Given the description of an element on the screen output the (x, y) to click on. 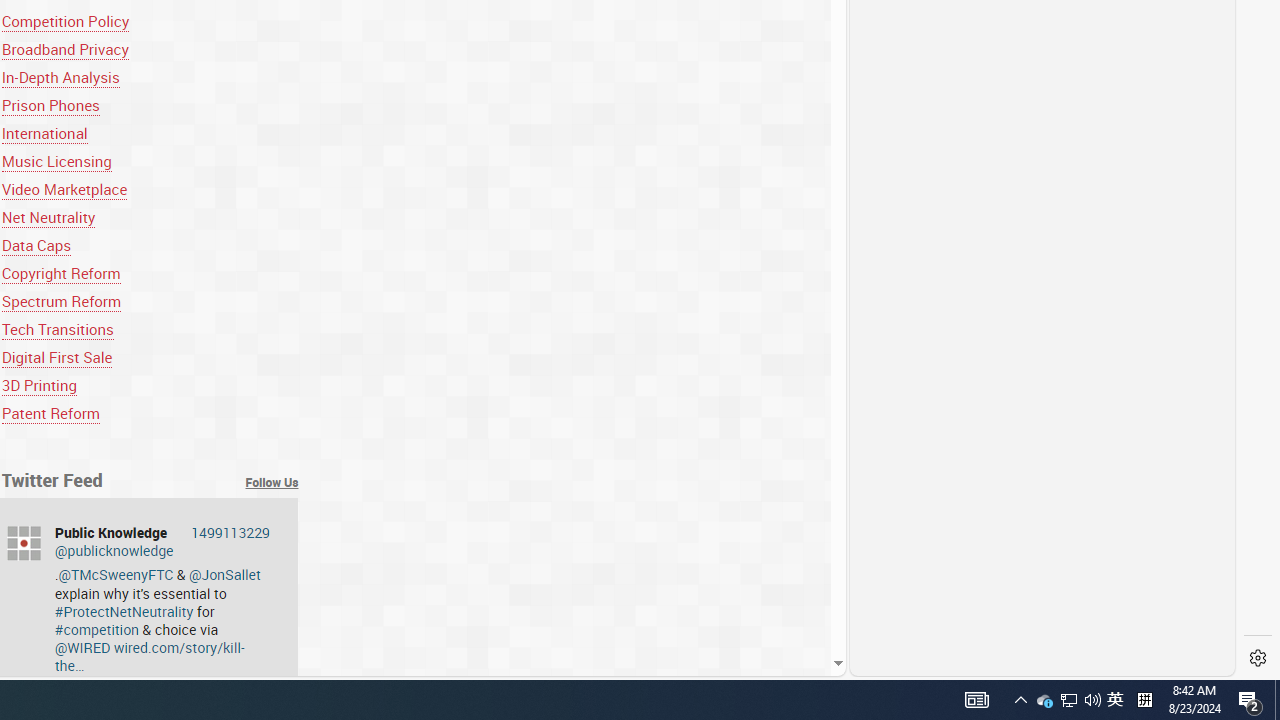
Net Neutrality (150, 217)
International (44, 133)
Copyright Reform (61, 272)
#competition (96, 629)
@TMcSweenyFTC (115, 574)
Music Licensing (56, 161)
Prison Phones (50, 105)
Public Knowledge @publicknowledge (162, 541)
Prison Phones (150, 105)
#ProtectNetNeutrality (123, 610)
